Given the description of an element on the screen output the (x, y) to click on. 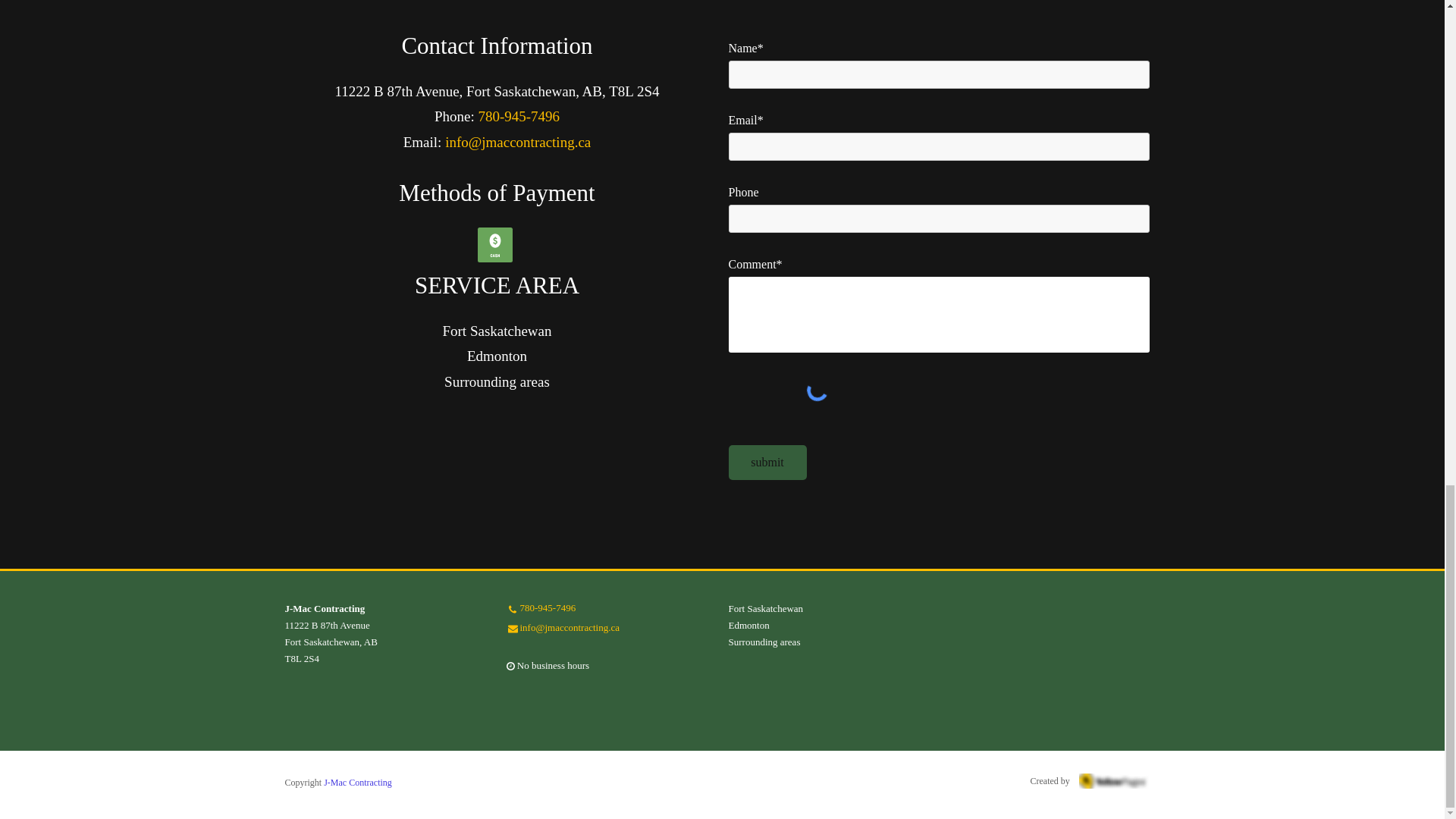
780-945-7496 (518, 116)
submit (767, 462)
J-Mac Contracting (357, 782)
780-945-7496 (547, 608)
